Given the description of an element on the screen output the (x, y) to click on. 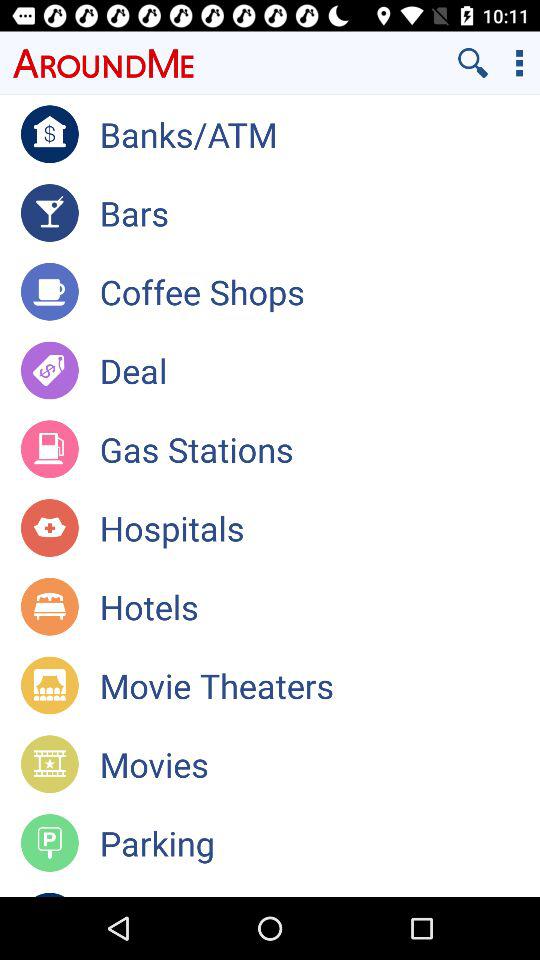
jump to the coffee shops icon (319, 291)
